Given the description of an element on the screen output the (x, y) to click on. 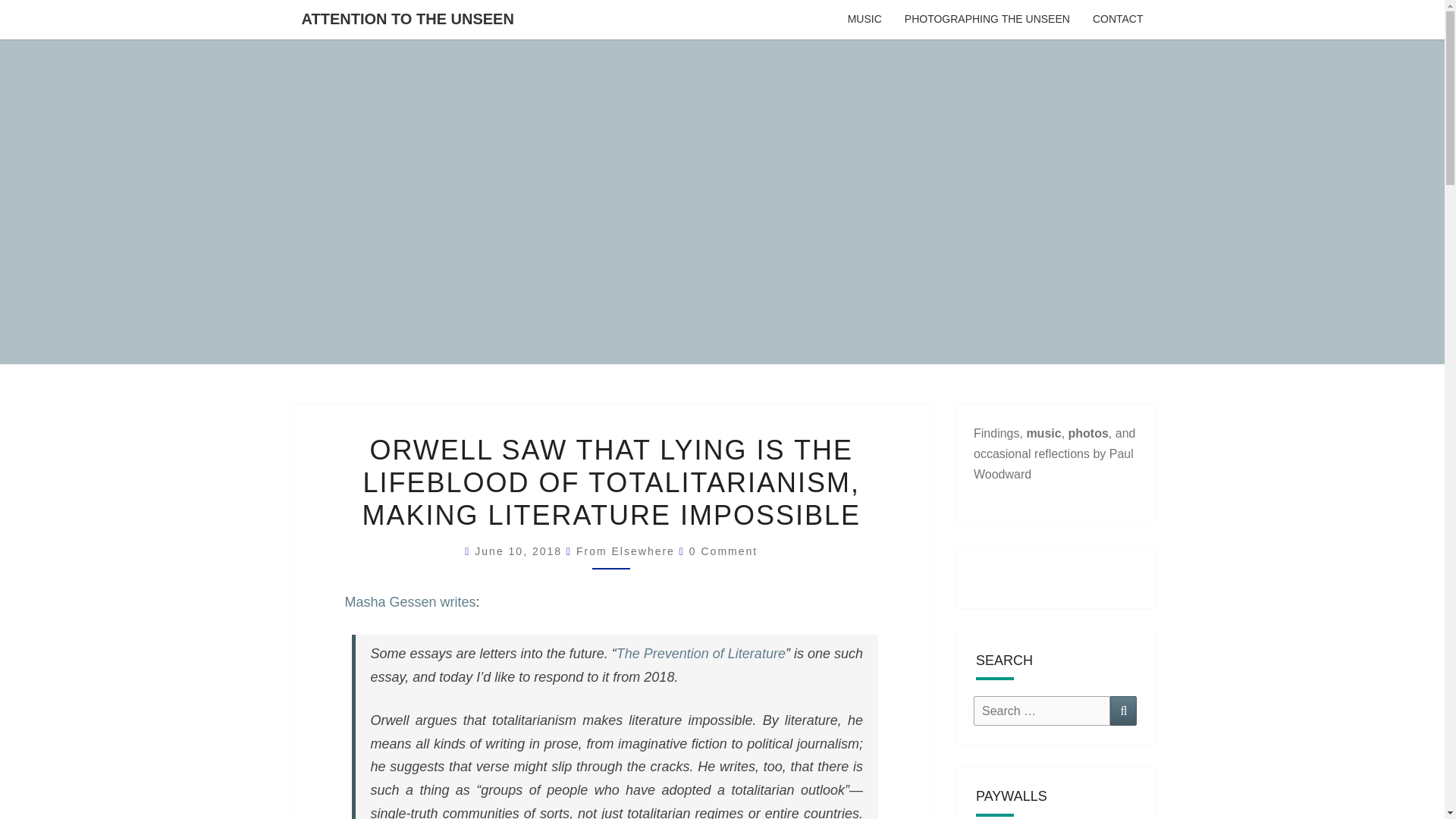
0 Comment (722, 551)
8:24 pm (520, 551)
From Elsewhere (625, 551)
CONTACT (1117, 19)
photos (1088, 432)
View all posts by From elsewhere (625, 551)
Search for: (1041, 710)
June 10, 2018 (520, 551)
Masha Gessen writes (409, 601)
music (1043, 432)
